Given the description of an element on the screen output the (x, y) to click on. 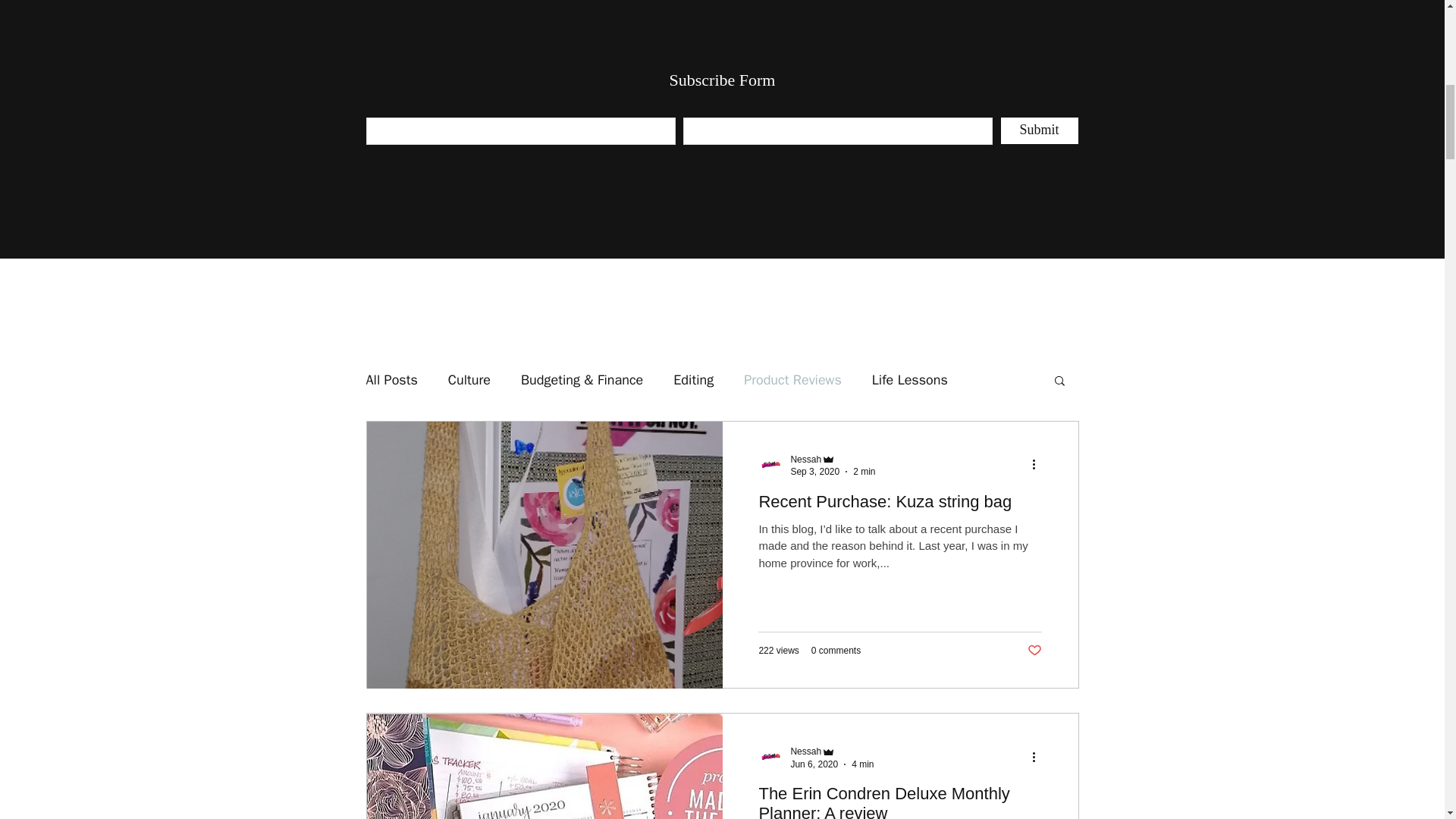
0 comments (835, 650)
Product Reviews (792, 380)
Culture (469, 380)
Sep 3, 2020 (815, 471)
2 min (864, 471)
Nessah (805, 751)
Jun 6, 2020 (814, 764)
Life Lessons (909, 380)
Nessah (832, 459)
Post not marked as liked (1034, 650)
4 min (862, 764)
All Posts (390, 380)
Submit (1039, 130)
Nessah (805, 459)
Recent Purchase: Kuza string bag (899, 505)
